Given the description of an element on the screen output the (x, y) to click on. 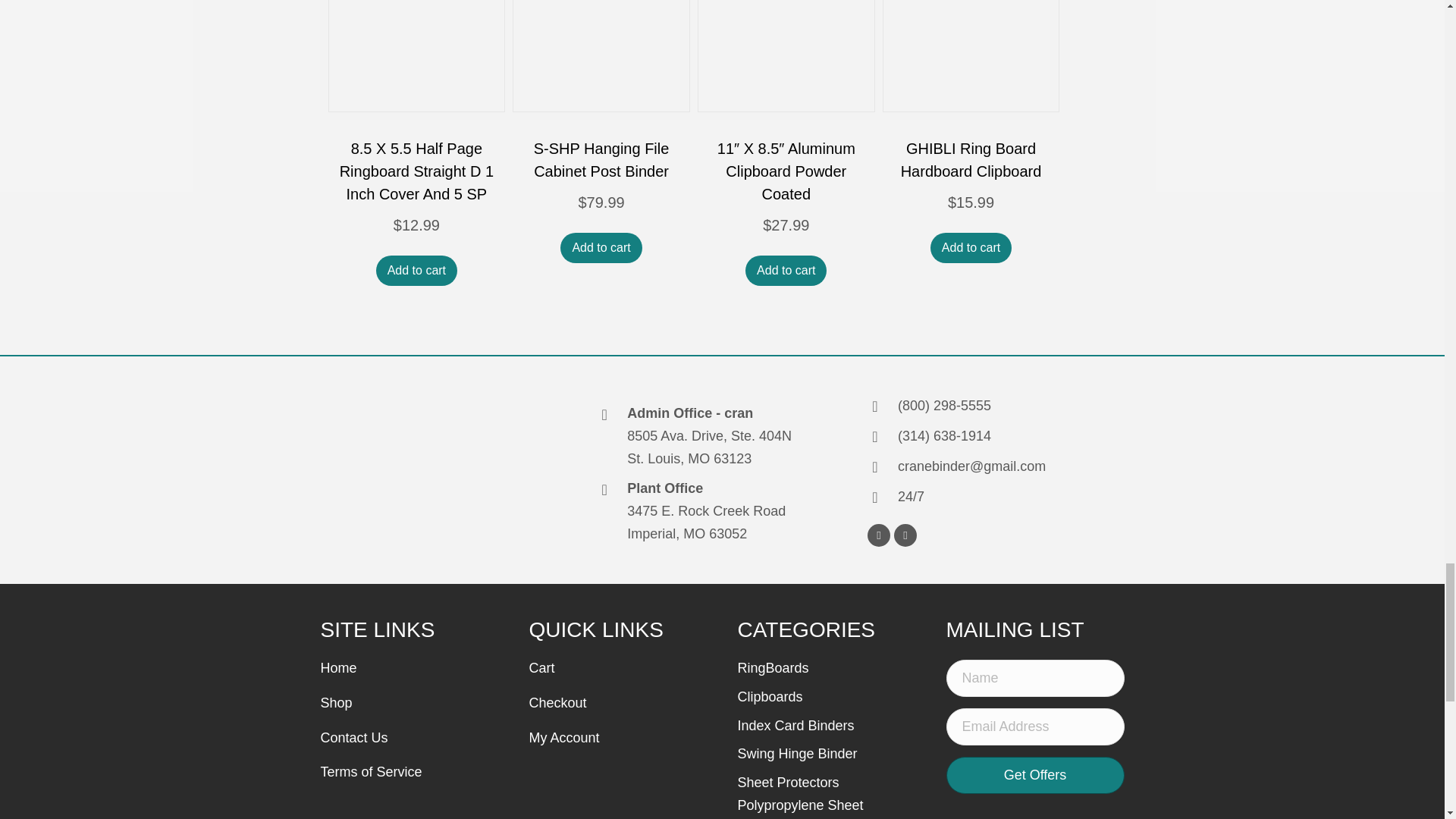
Instagram (905, 535)
logosm2 (407, 473)
Facebook (878, 535)
